Given the description of an element on the screen output the (x, y) to click on. 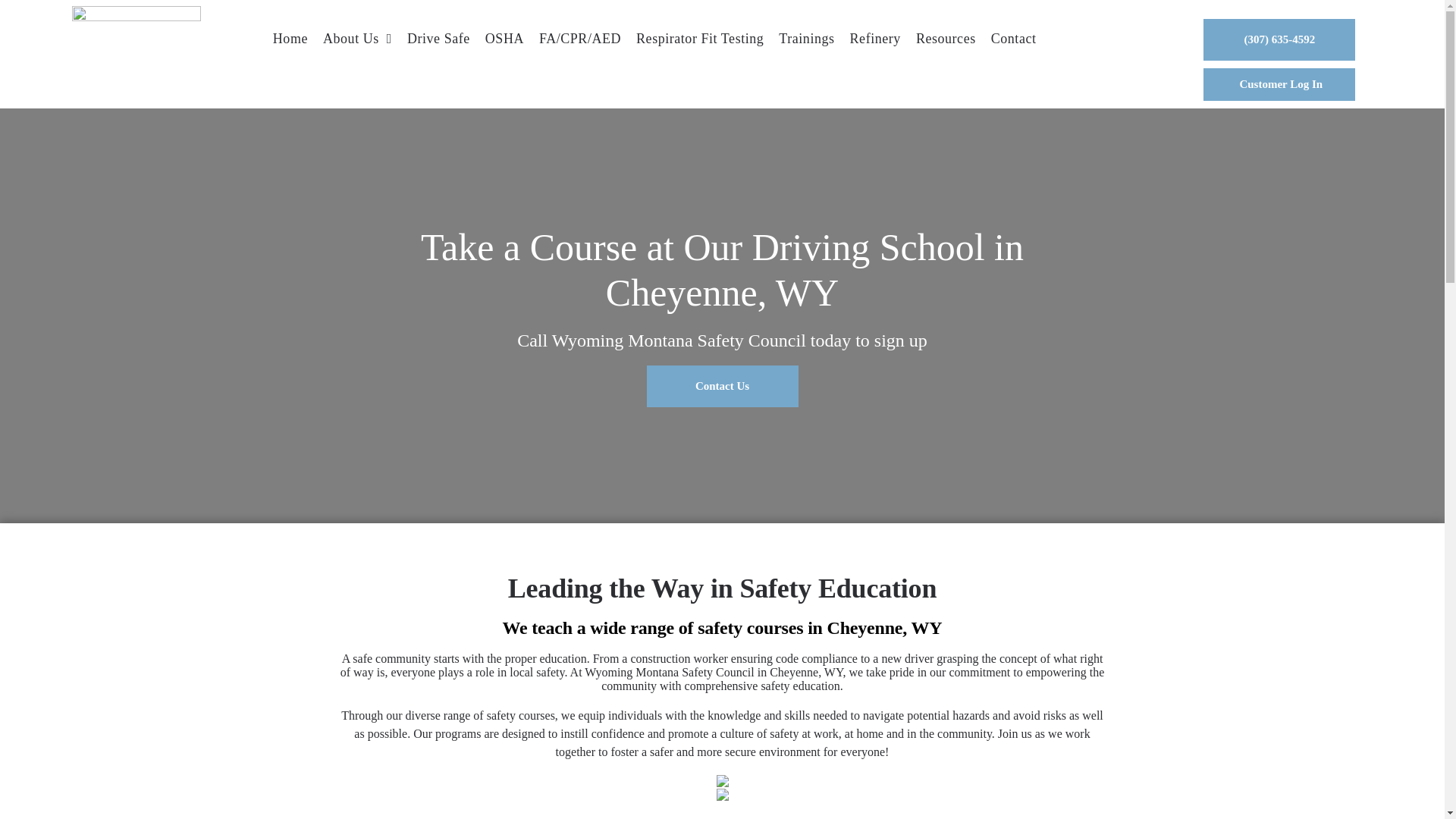
Home (289, 38)
Drive Safe (437, 38)
Customer Log In (1279, 83)
Contact Us (721, 386)
About Us (356, 38)
Respirator Fit Testing (699, 38)
Refinery (875, 38)
Trainings (806, 38)
Contact (1013, 38)
Resources (946, 38)
OSHA (504, 38)
